Given the description of an element on the screen output the (x, y) to click on. 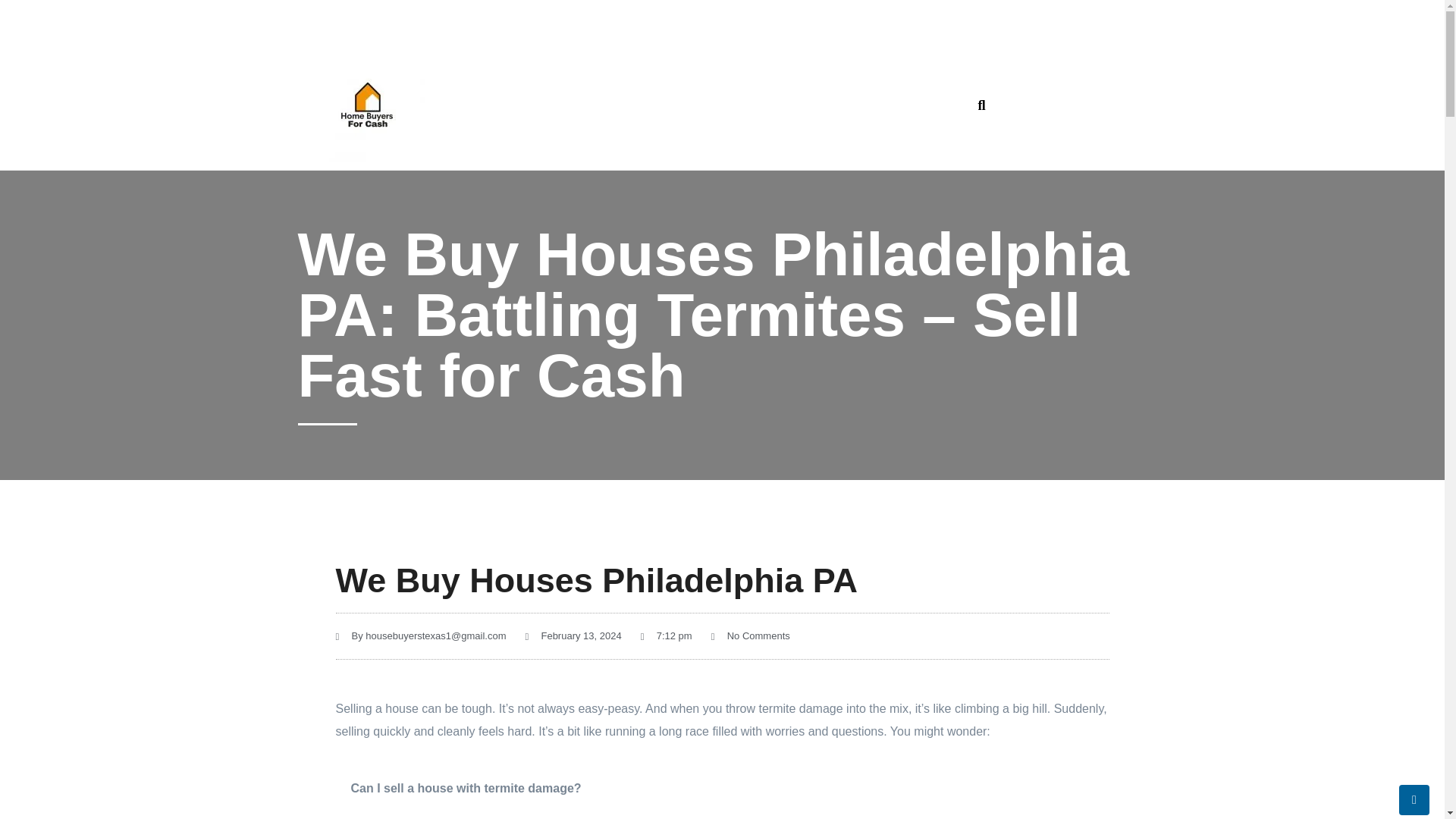
February 13, 2024 (572, 635)
We Buy Houses Philadelphia PA (595, 580)
No Comments (750, 635)
